Given the description of an element on the screen output the (x, y) to click on. 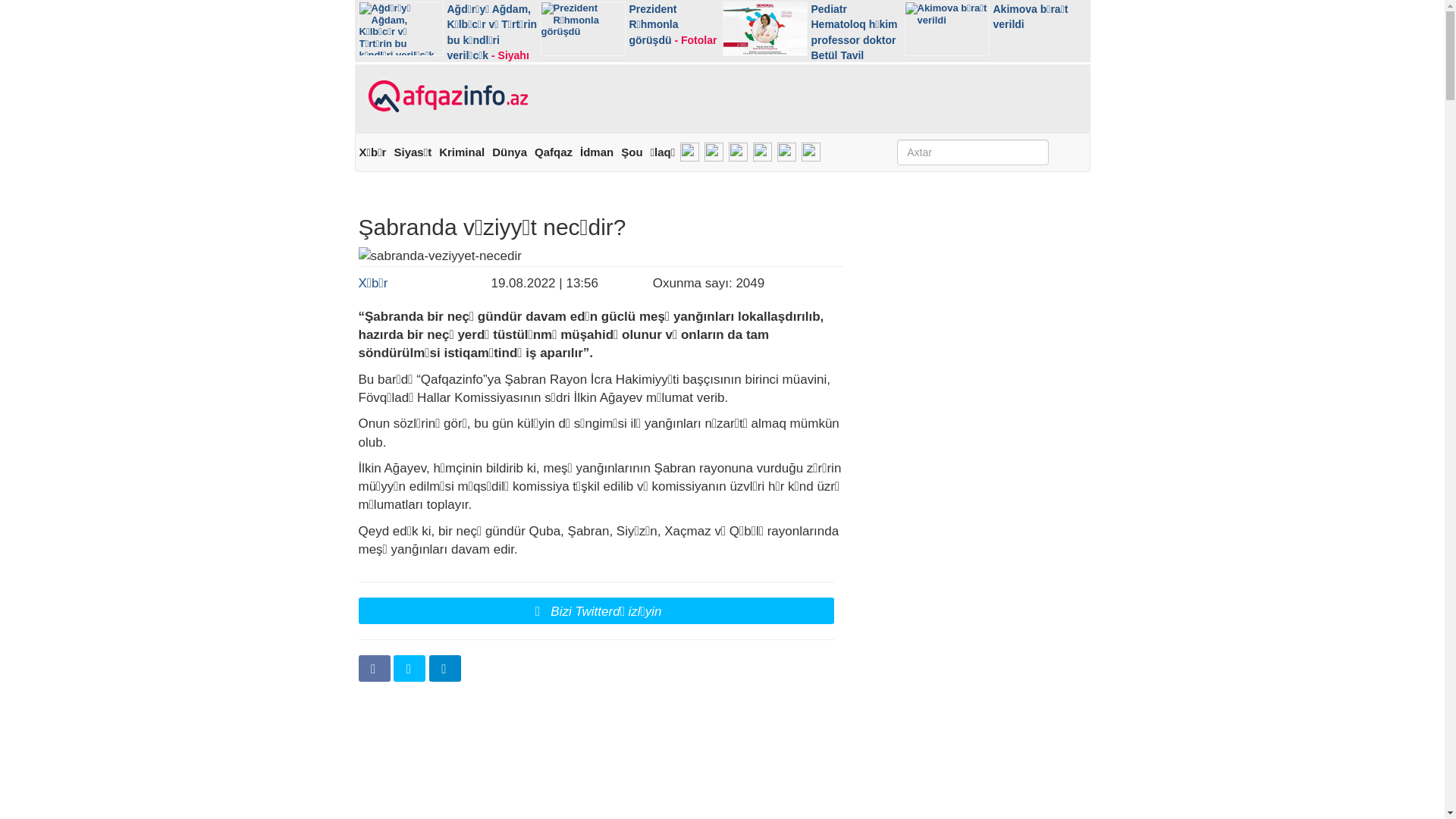
sabranda-veziyyet-necedir Element type: hover (600, 256)
Qafqaz Element type: text (553, 152)
Kriminal Element type: text (461, 152)
